Given the description of an element on the screen output the (x, y) to click on. 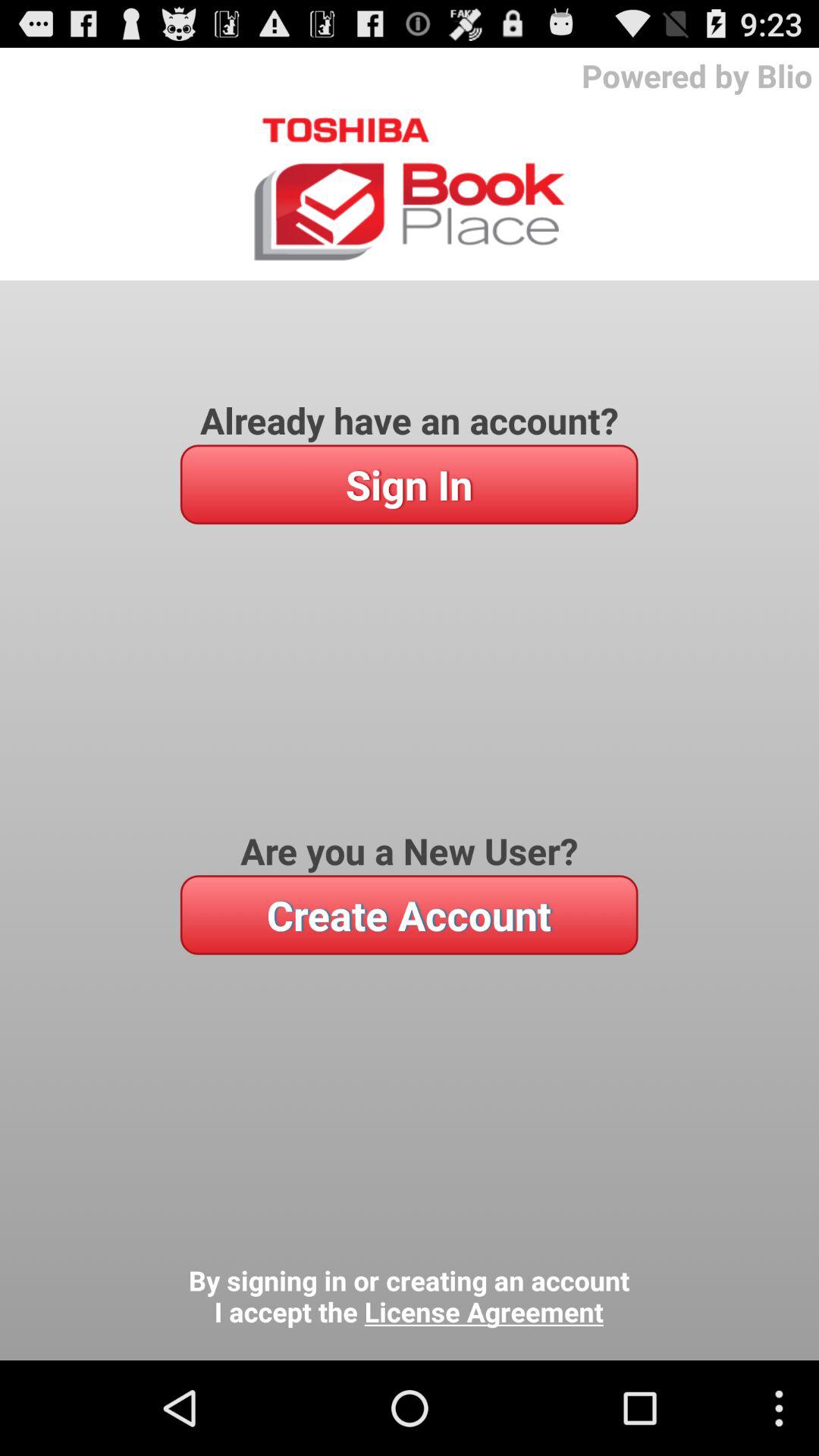
flip to the sign in item (409, 484)
